Given the description of an element on the screen output the (x, y) to click on. 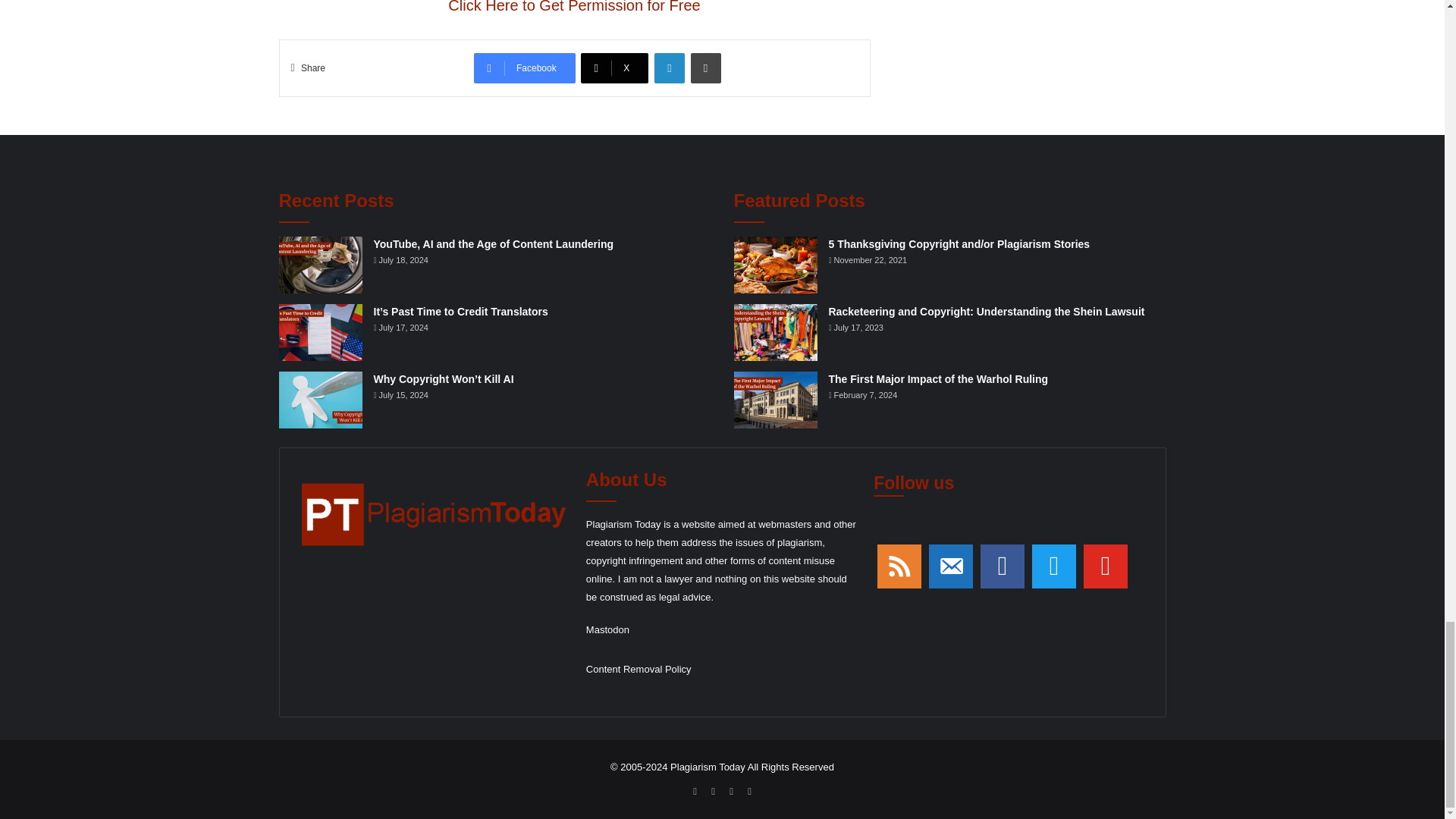
Facebook (524, 68)
Print (705, 68)
X (613, 68)
LinkedIn (668, 68)
